Given the description of an element on the screen output the (x, y) to click on. 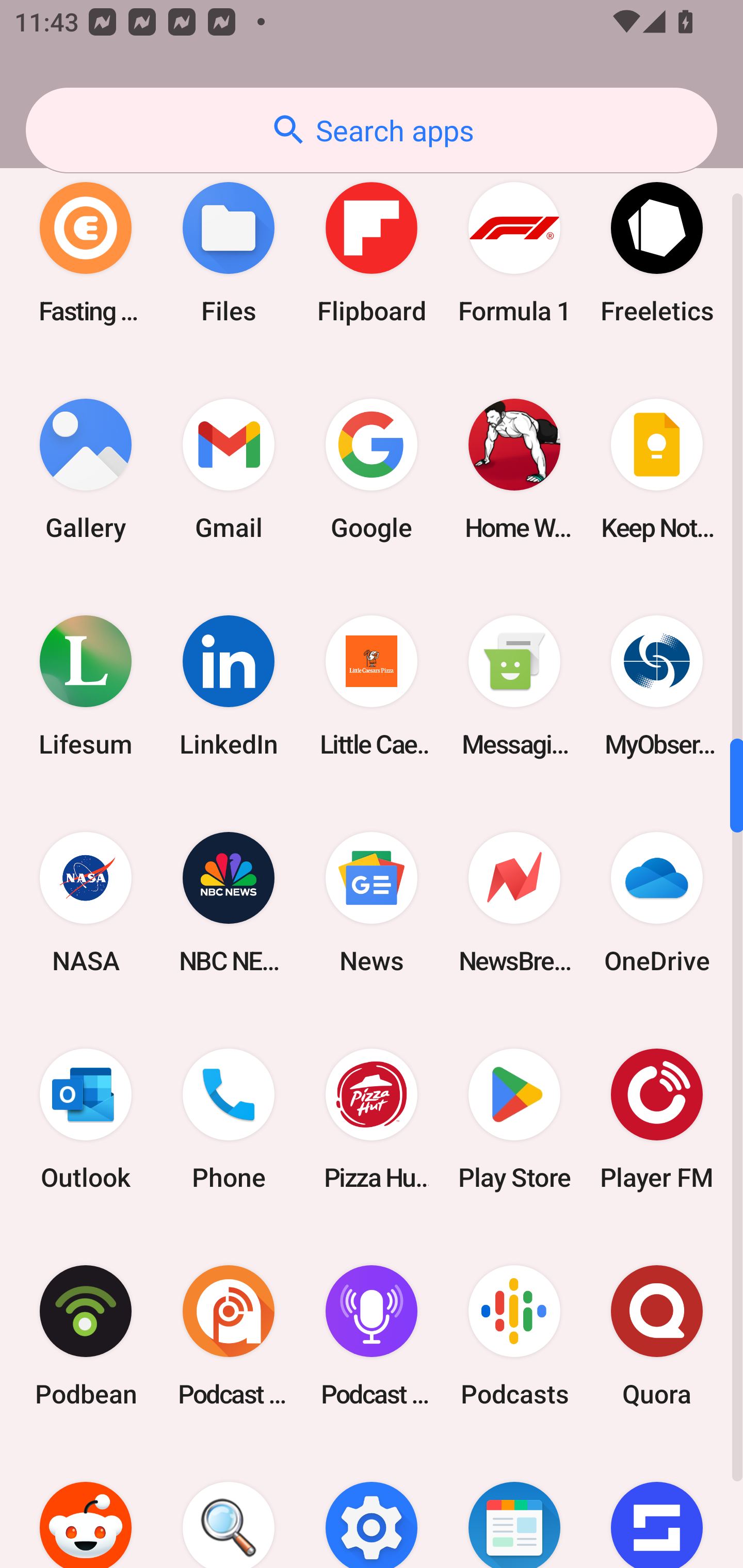
  Search apps (371, 130)
Fasting Coach (85, 252)
Files (228, 252)
Flipboard (371, 252)
Formula 1 (514, 252)
Freeletics (656, 252)
Gallery (85, 468)
Gmail (228, 468)
Google (371, 468)
Home Workout (514, 468)
Keep Notes (656, 468)
Lifesum (85, 685)
LinkedIn (228, 685)
Little Caesars Pizza (371, 685)
Messaging (514, 685)
MyObservatory (656, 685)
NASA (85, 902)
NBC NEWS (228, 902)
News (371, 902)
NewsBreak (514, 902)
OneDrive (656, 902)
Outlook (85, 1119)
Phone (228, 1119)
Pizza Hut HK & Macau (371, 1119)
Play Store (514, 1119)
Player FM (656, 1119)
Podbean (85, 1335)
Podcast Addict (228, 1335)
Podcast Player (371, 1335)
Podcasts (514, 1335)
Quora (656, 1335)
Reddit (85, 1506)
Search (228, 1506)
Settings (371, 1506)
SmartNews (514, 1506)
Sofascore (656, 1506)
